Given the description of an element on the screen output the (x, y) to click on. 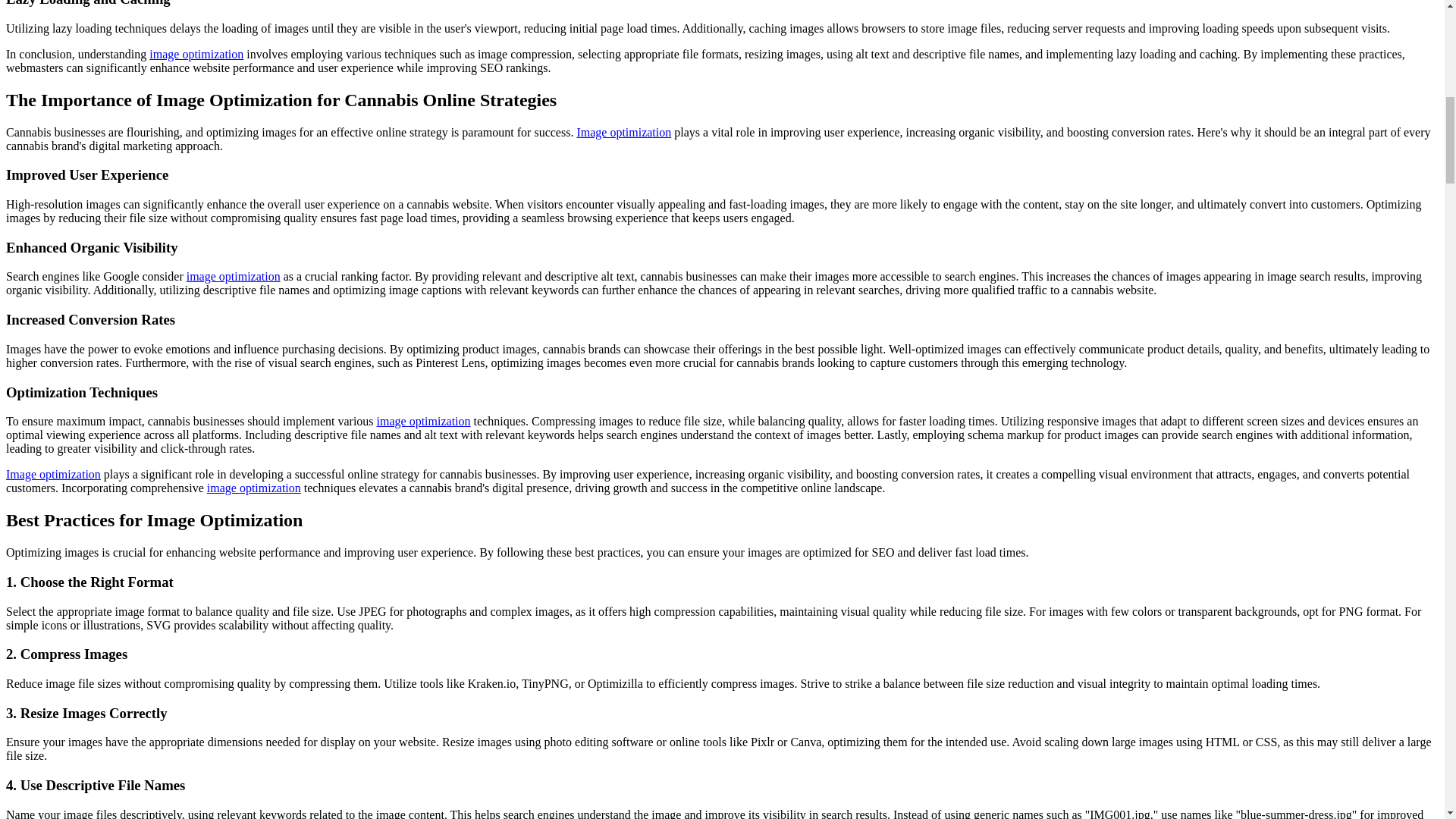
Image optimization (623, 132)
image optimization (233, 276)
image optimization (423, 420)
Image optimization (52, 473)
image optimization (253, 487)
image optimization (196, 53)
